Given the description of an element on the screen output the (x, y) to click on. 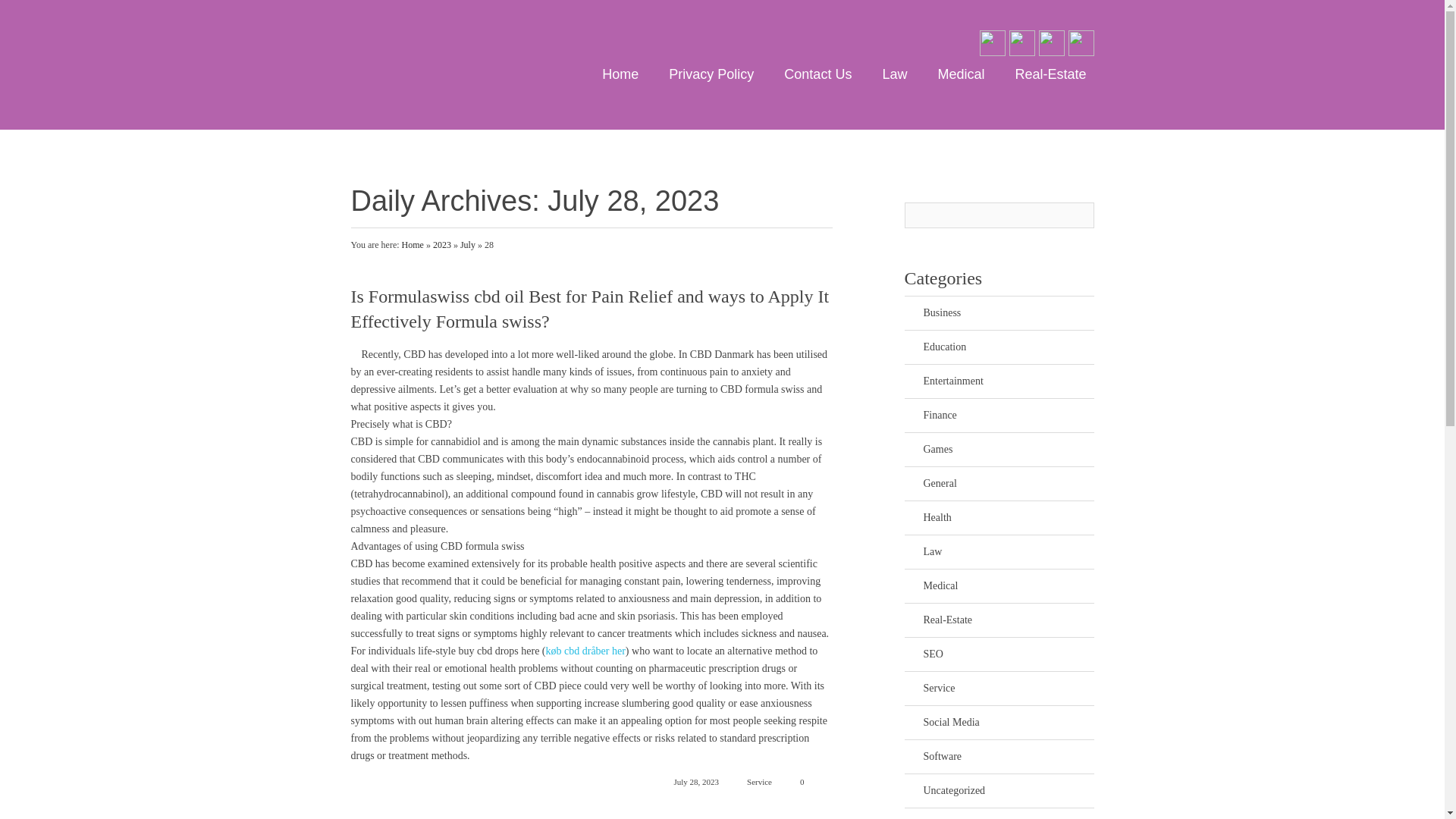
Privacy Policy (711, 74)
Law (894, 74)
Home (620, 74)
Health (1008, 517)
Real-Estate (1008, 620)
Service (1008, 688)
Contact Us (817, 74)
General (1008, 483)
July 28, 2023 (687, 781)
Entertainment (1008, 381)
Finance (1008, 415)
Home (412, 244)
Search (1080, 214)
Search (1080, 214)
Games (1008, 449)
